Given the description of an element on the screen output the (x, y) to click on. 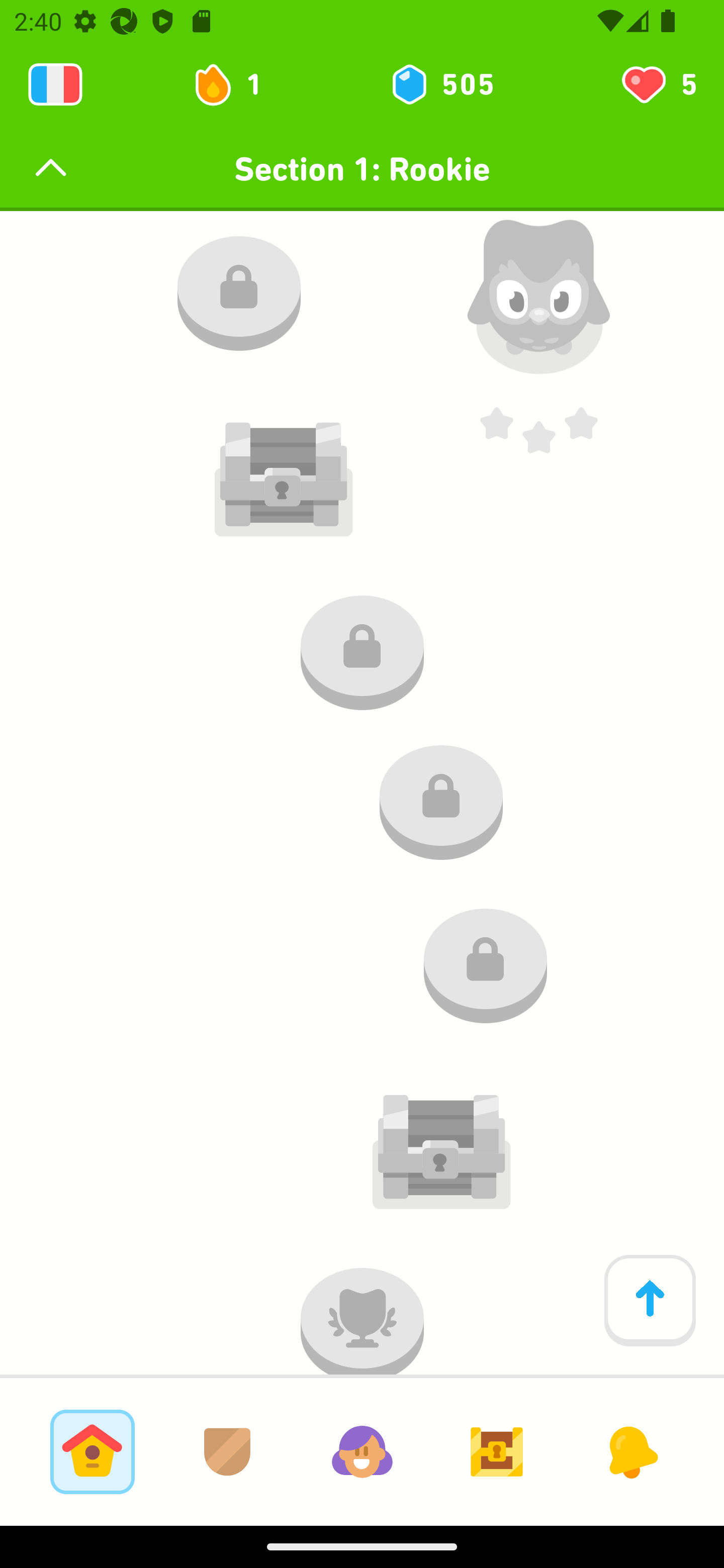
Learning 2131888976 (55, 84)
1 day streak 1 (236, 84)
505 (441, 84)
You have 5 hearts left 5 (657, 84)
Section 1: Rookie (362, 169)
Learn Tab (91, 1451)
Leagues Tab (227, 1451)
Profile Tab (361, 1451)
Goals Tab (496, 1451)
News Tab (631, 1451)
